Given the description of an element on the screen output the (x, y) to click on. 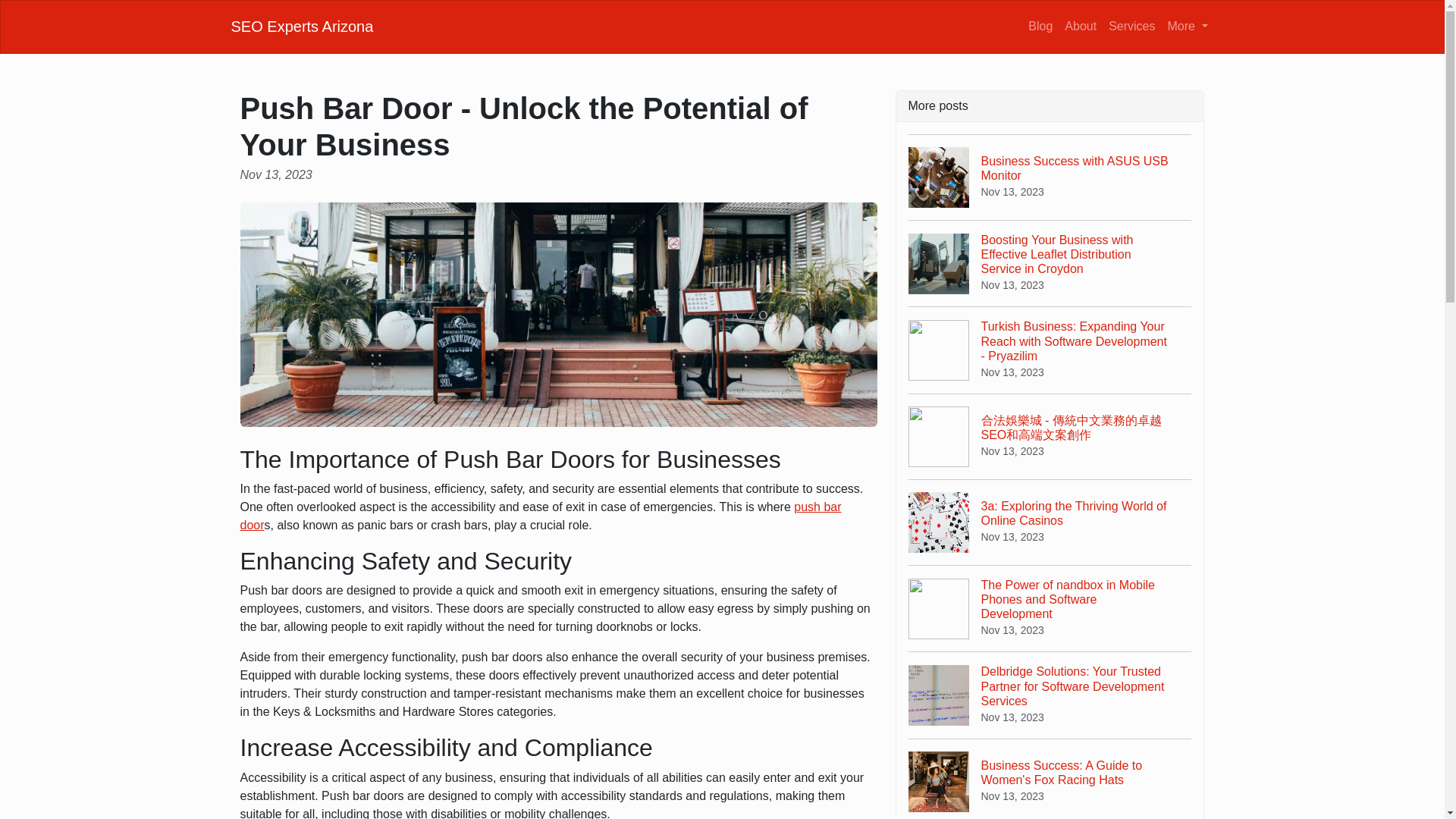
SEO Experts Arizona (1050, 177)
More (301, 26)
push bar door (1187, 26)
About (540, 515)
Blog (1080, 26)
Services (1040, 26)
